Given the description of an element on the screen output the (x, y) to click on. 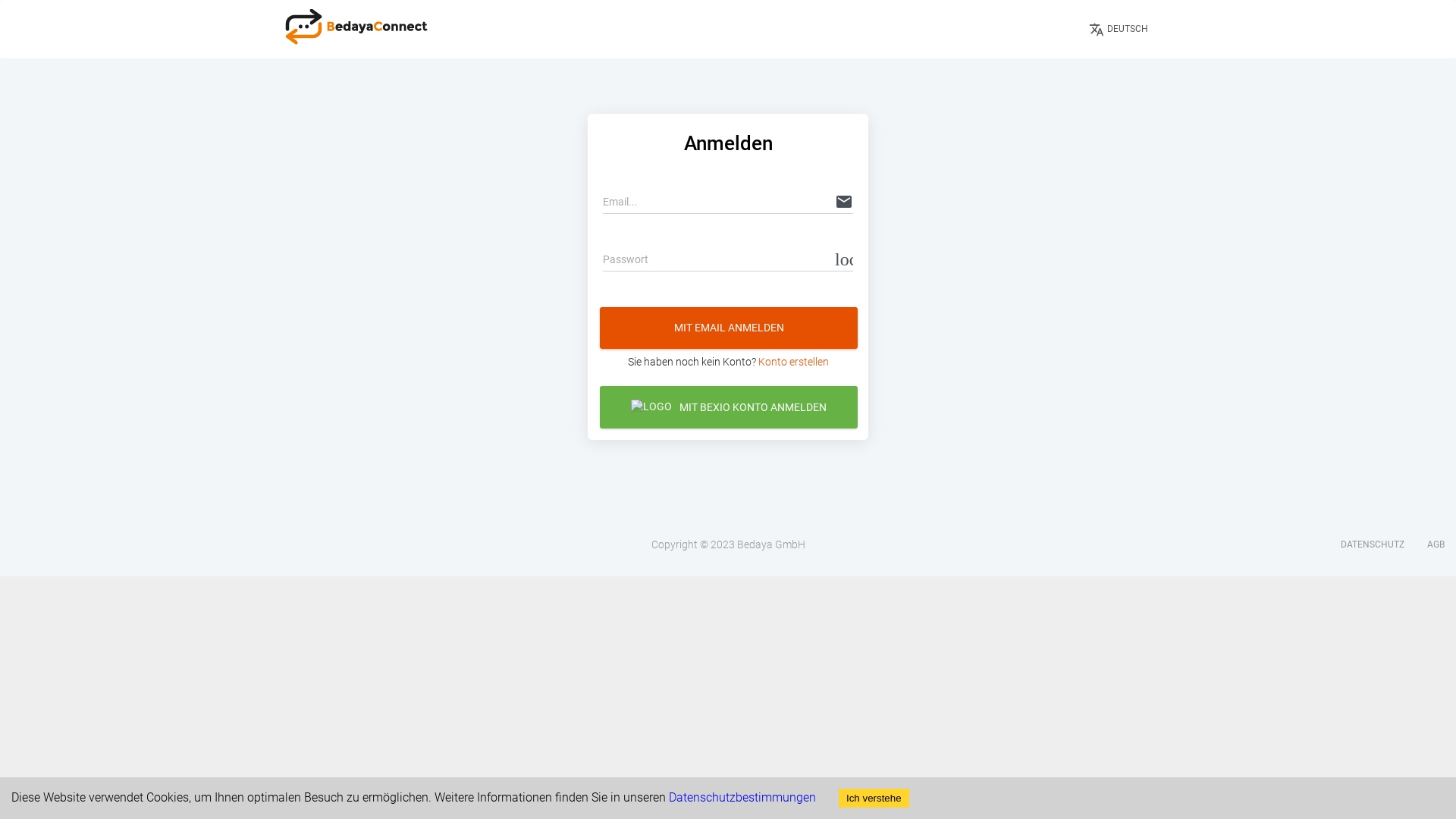
Datenschutzbestimmungen Element type: text (741, 797)
Konto erstellen Element type: text (793, 361)
DEUTSCH Element type: text (1124, 28)
MIT EMAIL ANMELDEN Element type: text (728, 327)
Ich verstehe Element type: text (873, 797)
DATENSCHUTZ Element type: text (1372, 544)
MIT BEXIO KONTO ANMELDEN Element type: text (728, 406)
